Given the description of an element on the screen output the (x, y) to click on. 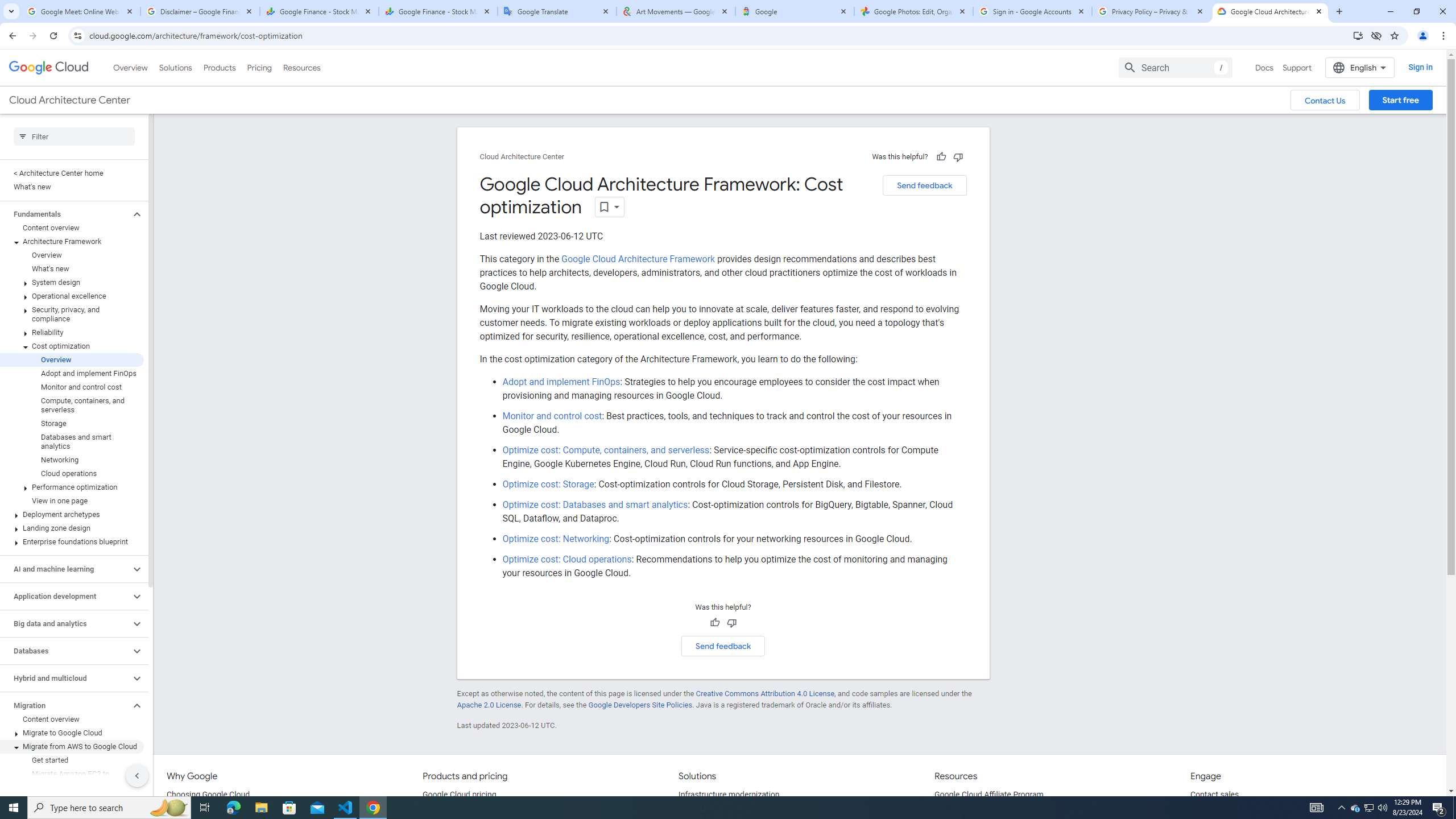
Optimize cost: Storage (548, 484)
Send feedback (723, 645)
Start free (1400, 100)
Resources (301, 67)
Performance optimization (72, 486)
Networking (72, 459)
Creative Commons Attribution 4.0 License (764, 693)
